Given the description of an element on the screen output the (x, y) to click on. 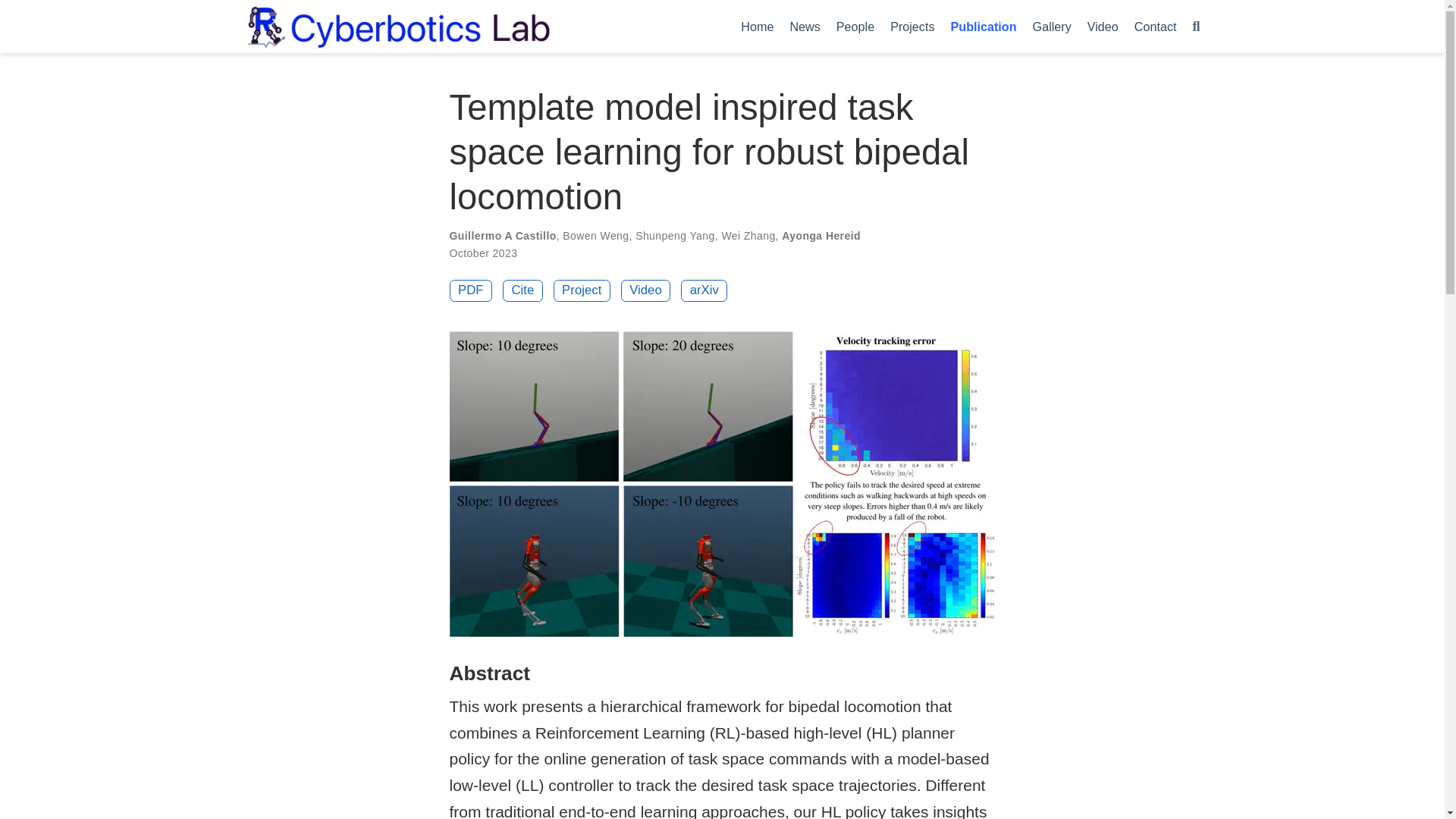
Gallery (1051, 25)
Contact (1155, 25)
Shunpeng Yang (674, 235)
Cite (522, 291)
Project (581, 291)
Video (646, 291)
arXiv (703, 291)
Home (757, 25)
People (855, 25)
Projects (912, 25)
Bowen Weng (595, 235)
Publication (983, 25)
PDF (470, 291)
Ayonga Hereid (820, 235)
Wei Zhang (747, 235)
